Given the description of an element on the screen output the (x, y) to click on. 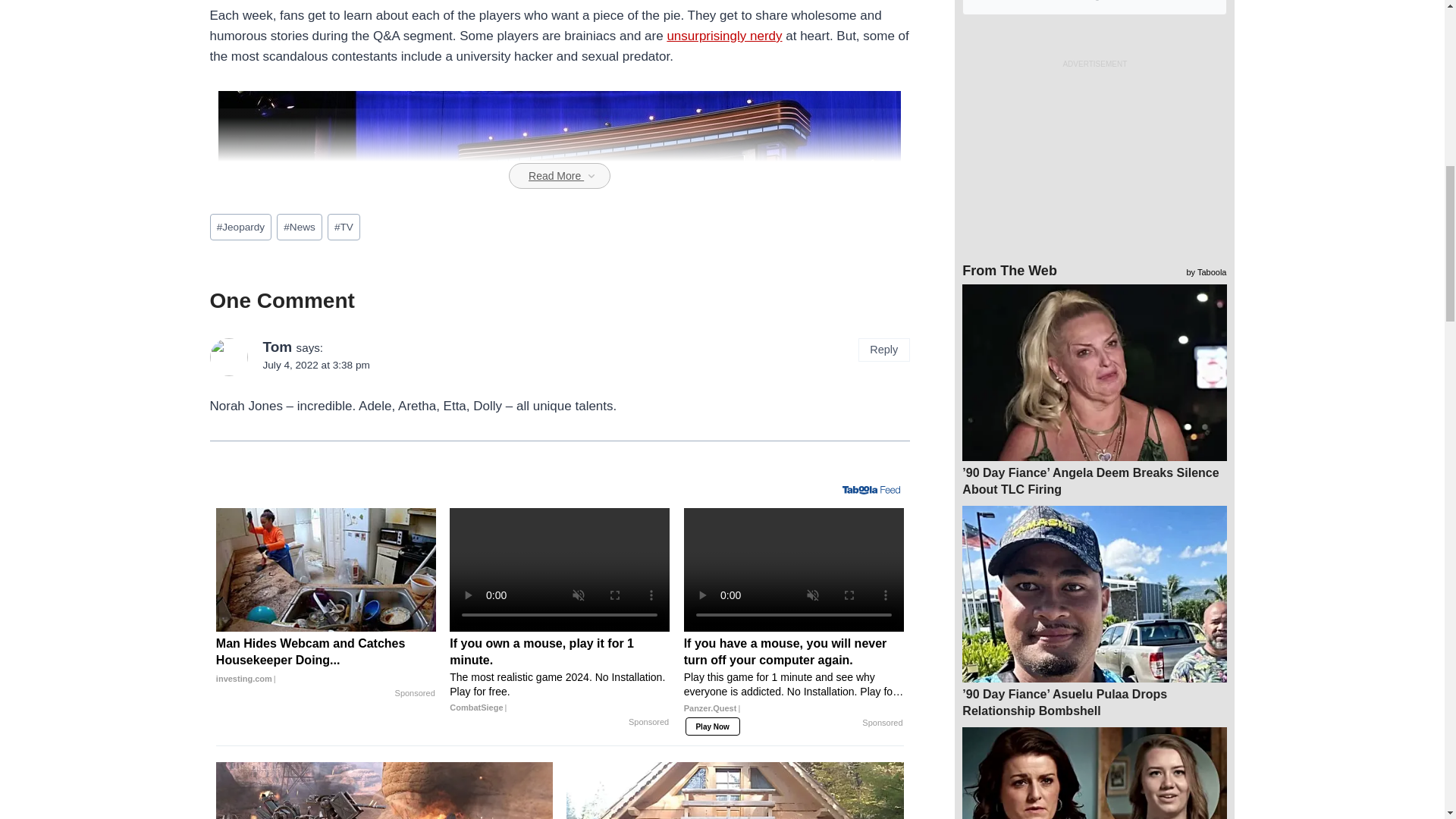
If you own a mouse, play it for 1 minute. (559, 675)
News (298, 226)
Jeopardy (239, 226)
TV (343, 226)
Man Hides Webcam and Catches Housekeeper Doing... (325, 661)
unsurprisingly nerdy (723, 35)
If you own a mouse, play it for 1 minute. (559, 569)
Man Hides Webcam and Catches Housekeeper Doing... (325, 569)
Read More (559, 175)
